Given the description of an element on the screen output the (x, y) to click on. 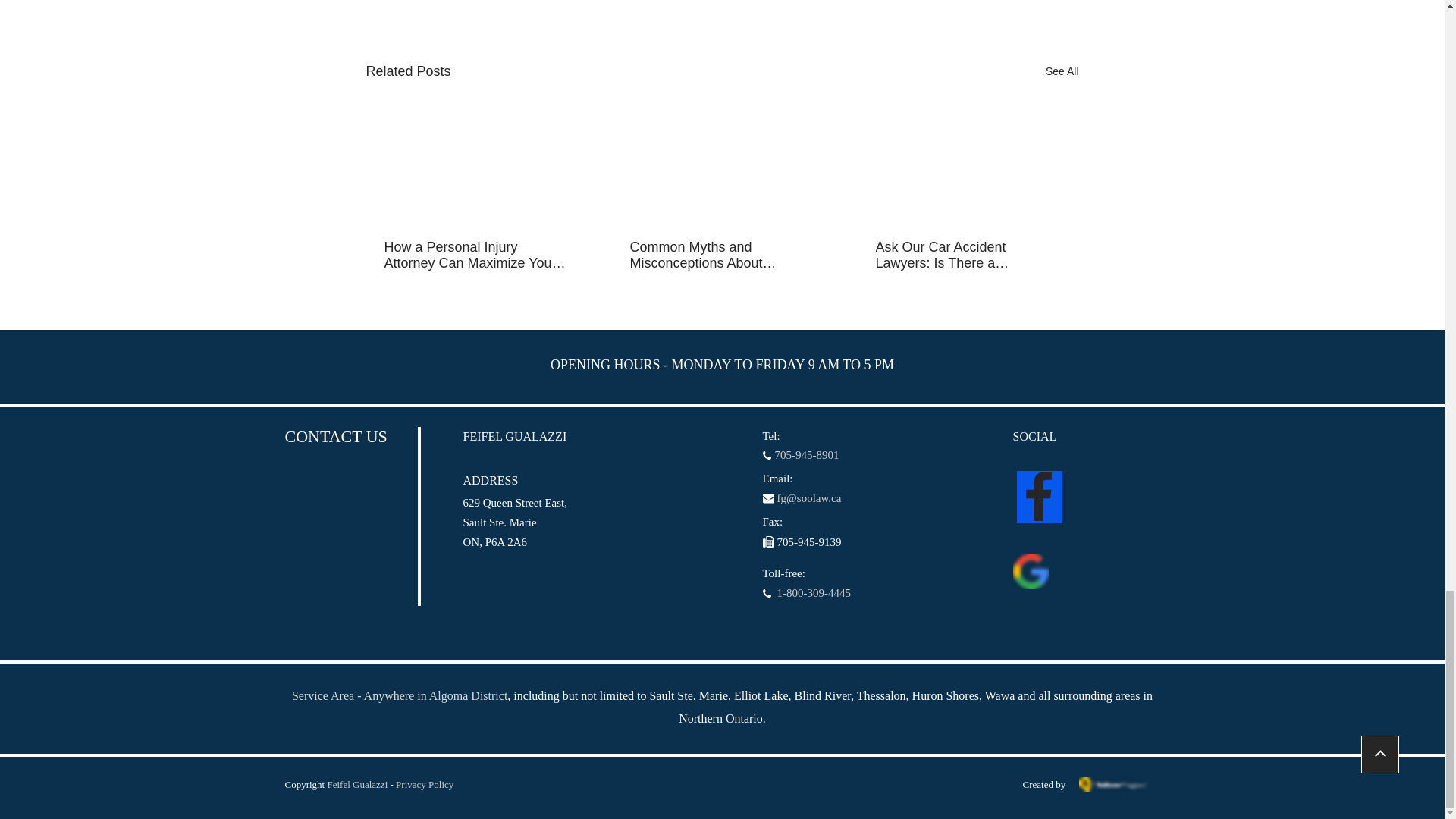
See All (1061, 71)
